Given the description of an element on the screen output the (x, y) to click on. 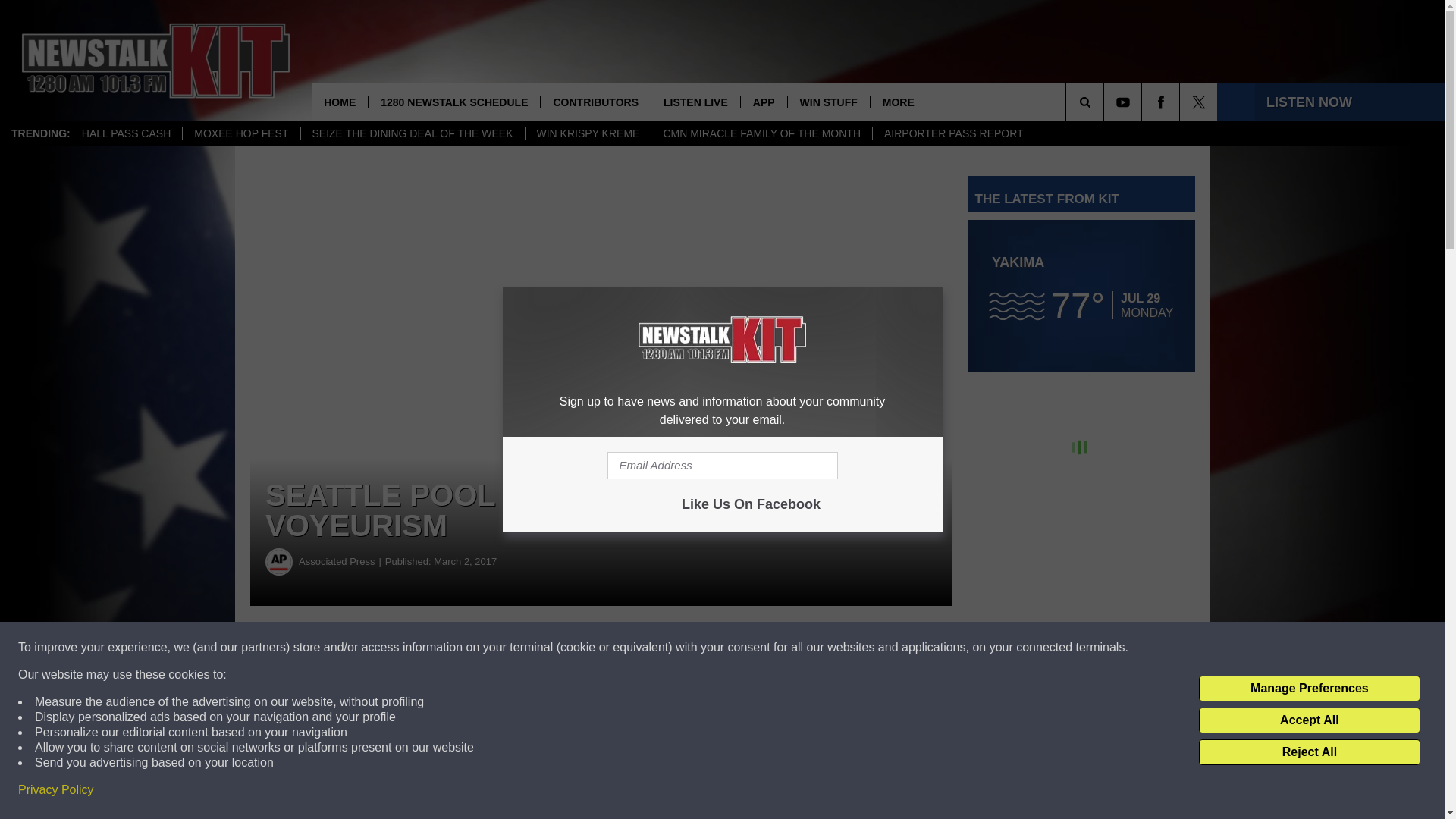
AIRPORTER PASS REPORT (953, 133)
MOXEE HOP FEST (240, 133)
CMN MIRACLE FAMILY OF THE MONTH (761, 133)
Accept All (1309, 720)
Yakima Weather (1081, 295)
Share on Twitter (741, 647)
HALL PASS CASH (126, 133)
LISTEN LIVE (694, 102)
SEARCH (1106, 102)
Email Address (722, 465)
Privacy Policy (55, 789)
Manage Preferences (1309, 688)
SEARCH (1106, 102)
CONTRIBUTORS (595, 102)
1280 NEWSTALK SCHEDULE (454, 102)
